Given the description of an element on the screen output the (x, y) to click on. 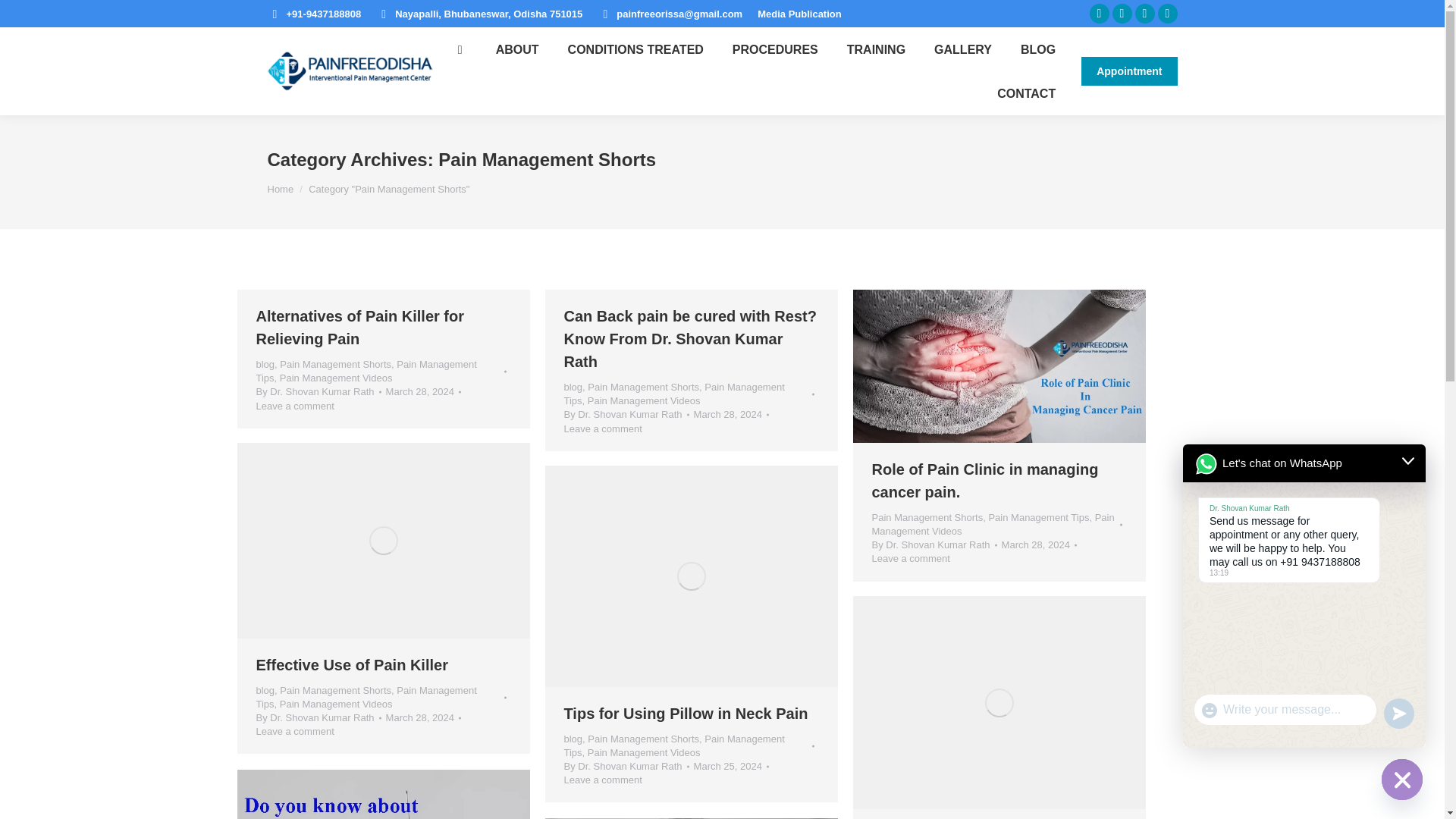
View all posts by Dr. Shovan Kumar Rath (318, 391)
Media Publication (799, 12)
X page opens in new window (1121, 13)
7:17 pm (731, 414)
Alternatives of Pain Killer for Relieving Pain (360, 327)
GALLERY (963, 49)
Facebook page opens in new window (1098, 13)
Website page opens in new window (1166, 13)
View all posts by Dr. Shovan Kumar Rath (626, 414)
TRAINING (875, 49)
7:20 pm (423, 391)
PROCEDURES (775, 49)
X page opens in new window (1121, 13)
Website page opens in new window (1166, 13)
